Given the description of an element on the screen output the (x, y) to click on. 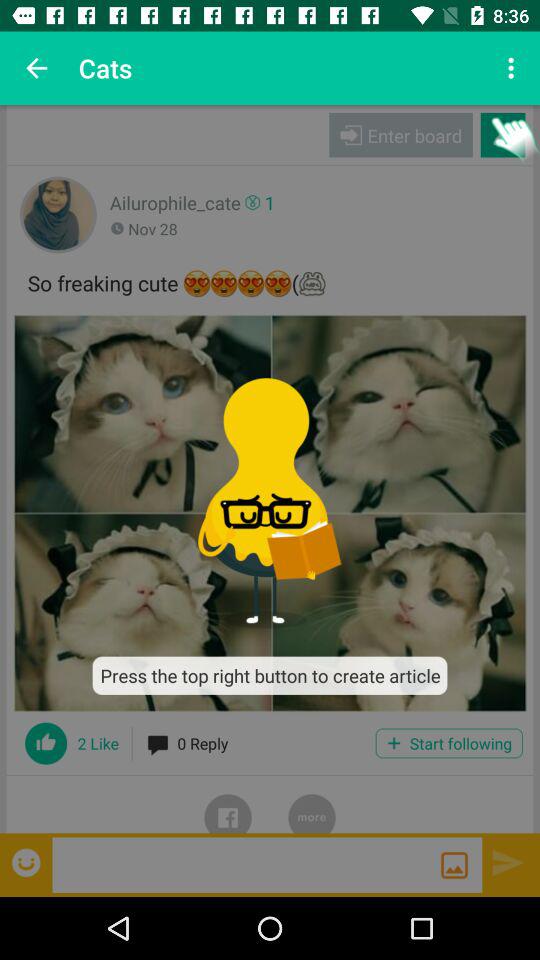
emoticons (28, 862)
